Given the description of an element on the screen output the (x, y) to click on. 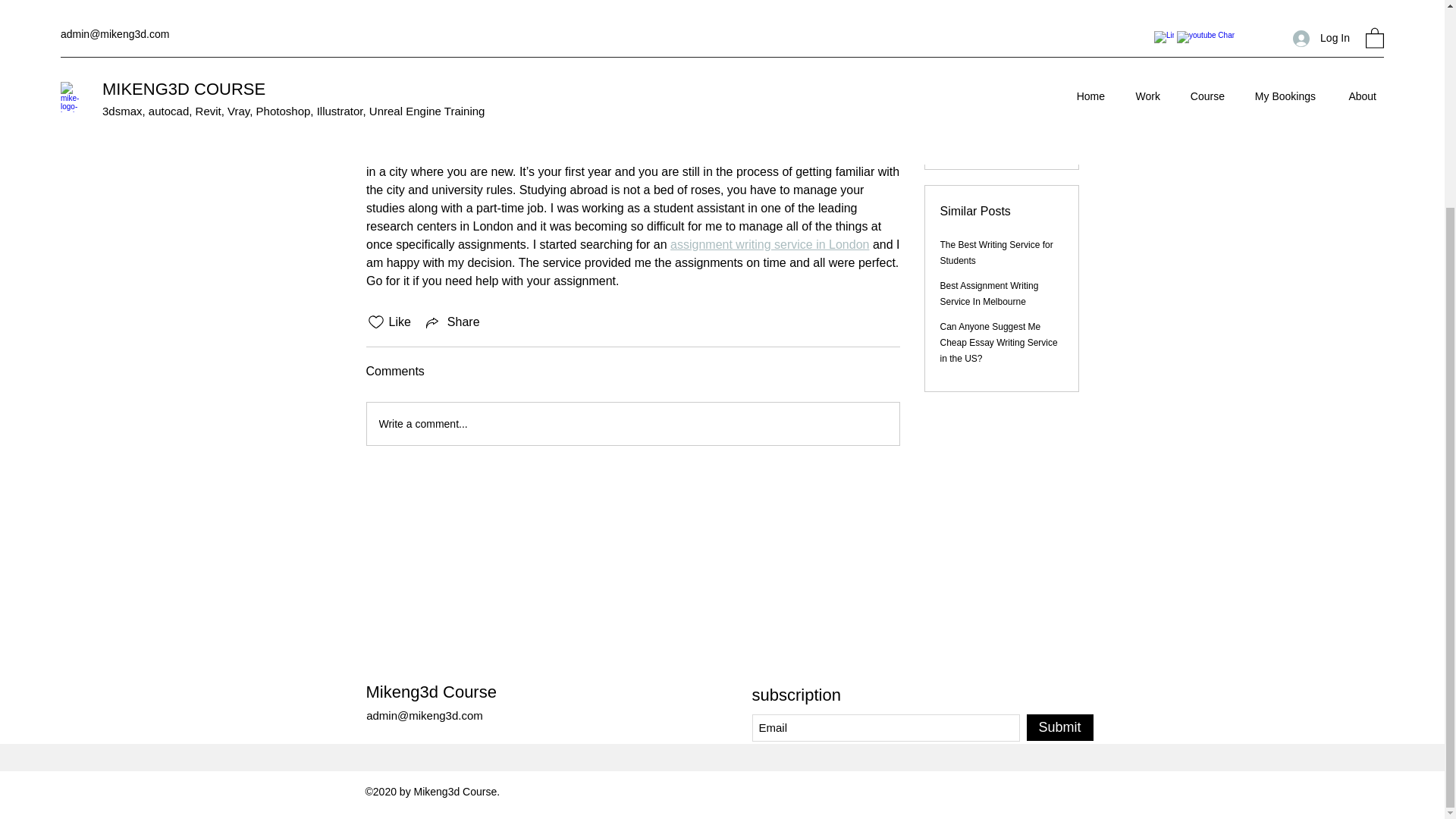
assignment writing service in London (769, 244)
The Best Writing Service for Students (996, 248)
Can Anyone Suggest Me Cheap Essay Writing Service in the US? (999, 338)
Follow Post (1000, 63)
Share (451, 321)
in Business Forum (415, 124)
Mikeng3d Course (430, 691)
Write a comment... (414, 26)
Comment (632, 423)
